Given the description of an element on the screen output the (x, y) to click on. 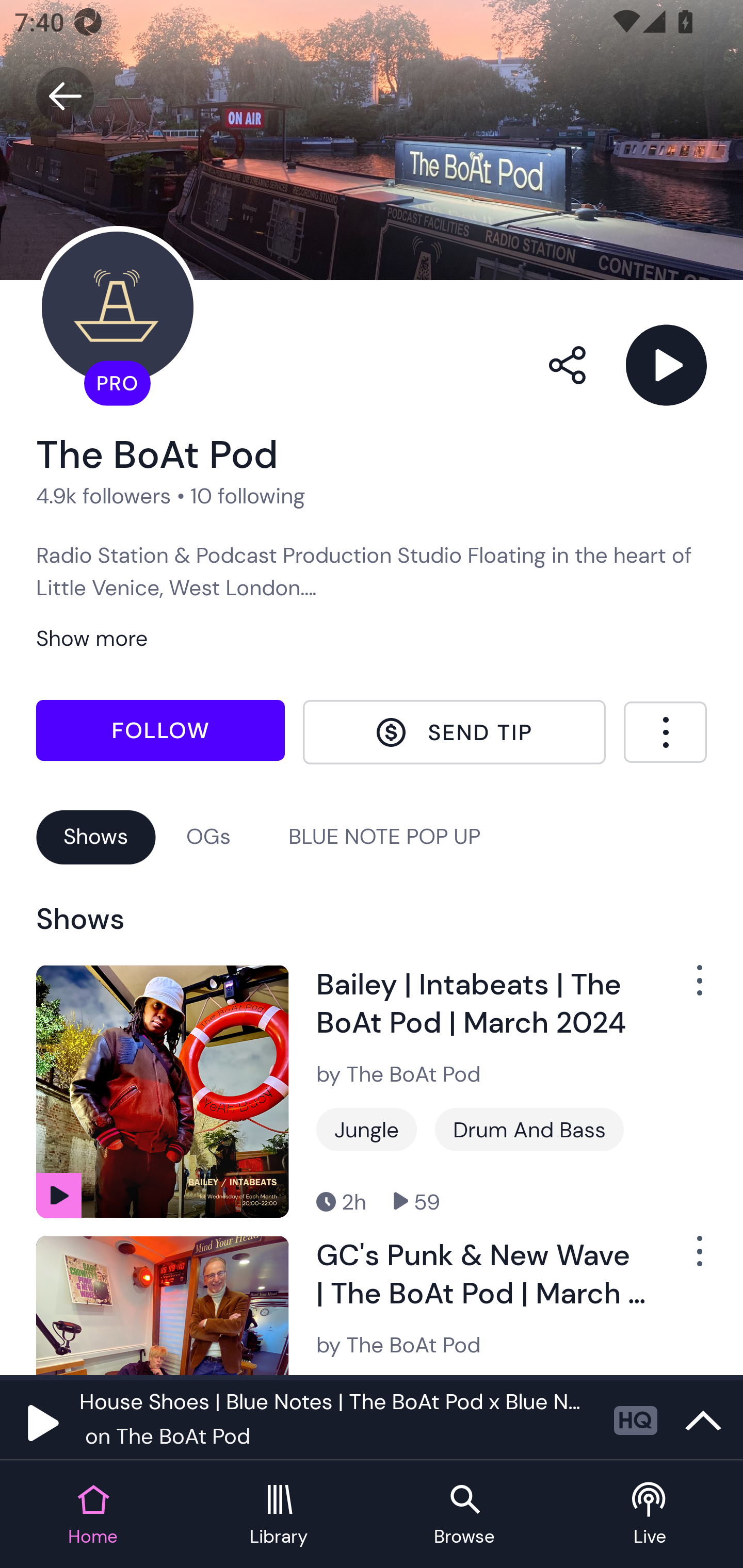
4.9k followers (103, 495)
10 following (247, 495)
Follow FOLLOW (160, 729)
Send tip SEND TIP (454, 732)
More Menu (665, 731)
Shows (95, 836)
OGs (208, 836)
BLUE NOTE POP UP (384, 836)
Show Options Menu Button (688, 987)
Jungle (366, 1129)
Drum And Bass (529, 1129)
Show Options Menu Button (688, 1258)
Home tab Home (92, 1515)
Library tab Library (278, 1515)
Browse tab Browse (464, 1515)
Live tab Live (650, 1515)
